Given the description of an element on the screen output the (x, y) to click on. 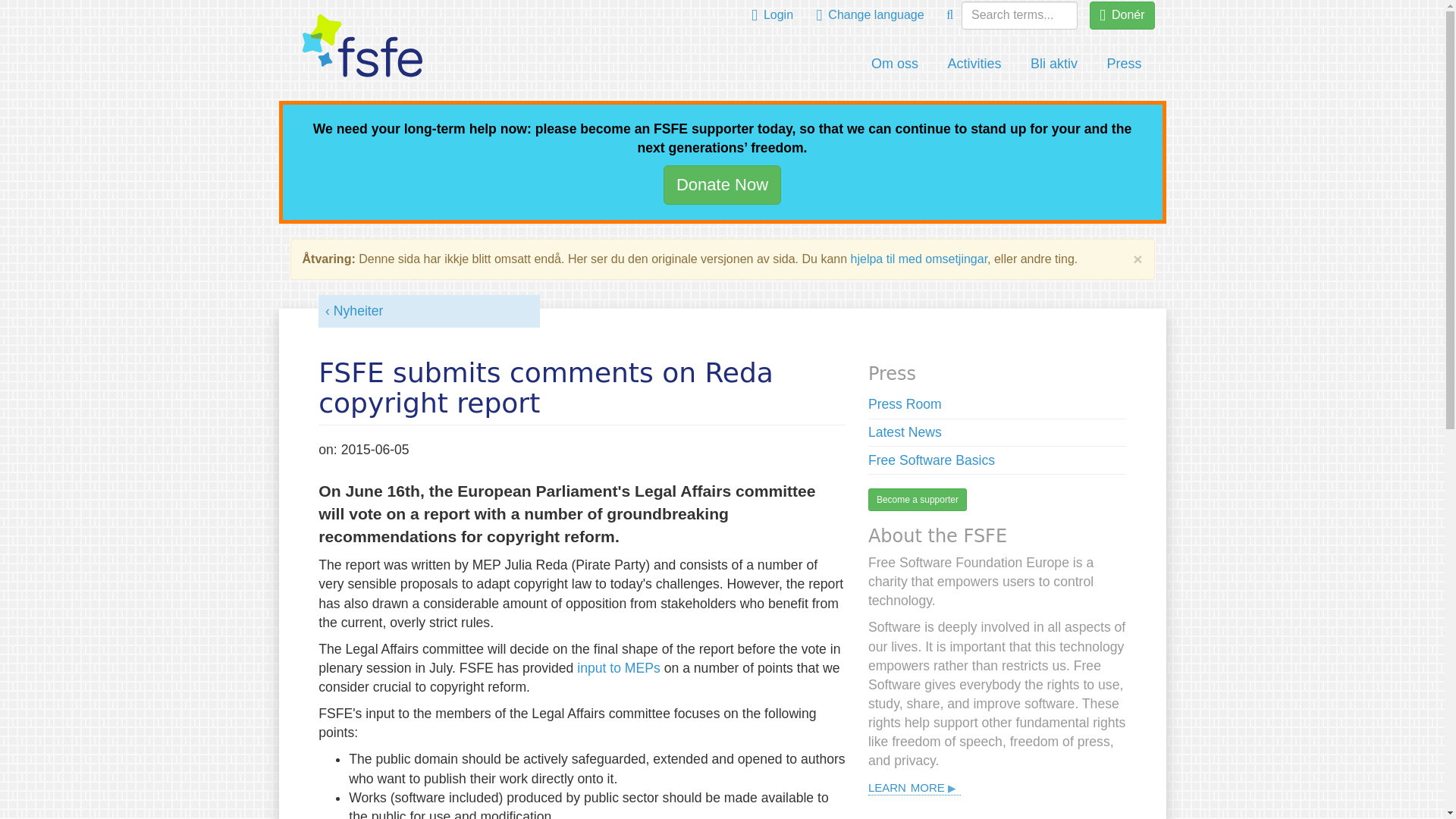
Latest News (904, 432)
Free Software Basics (930, 459)
Become a supporter (916, 499)
Om oss (895, 63)
Change language (870, 15)
Donate Now (721, 184)
learn more (913, 786)
Bli aktiv (1053, 63)
Press Room (904, 403)
input to MEPs (618, 667)
Nyheiter (353, 310)
Press (1123, 63)
Login (772, 15)
hjelpa til med omsetjingar (919, 257)
Activities (974, 63)
